Given the description of an element on the screen output the (x, y) to click on. 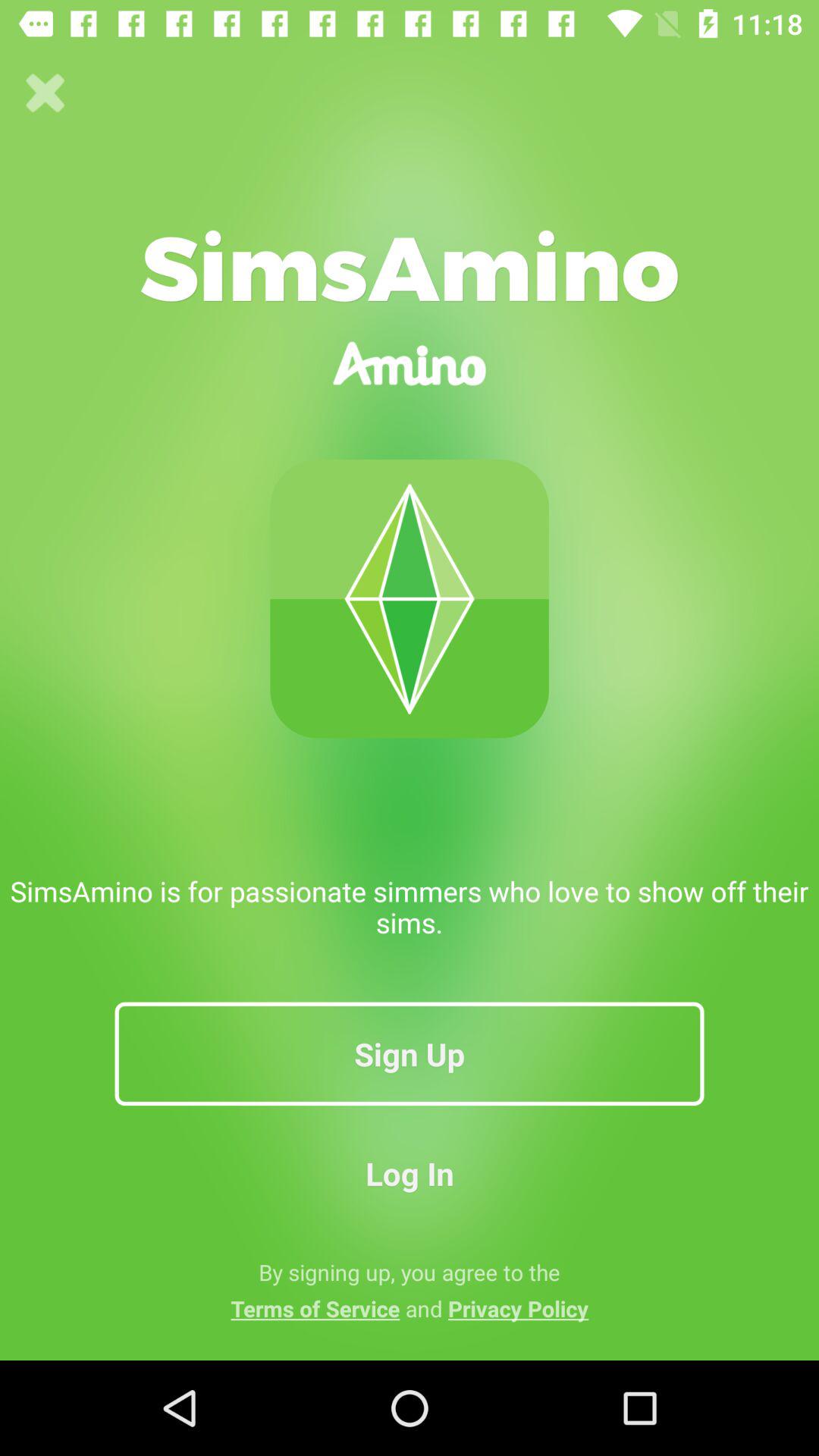
select the icon below the simsamino is for app (409, 1053)
